Given the description of an element on the screen output the (x, y) to click on. 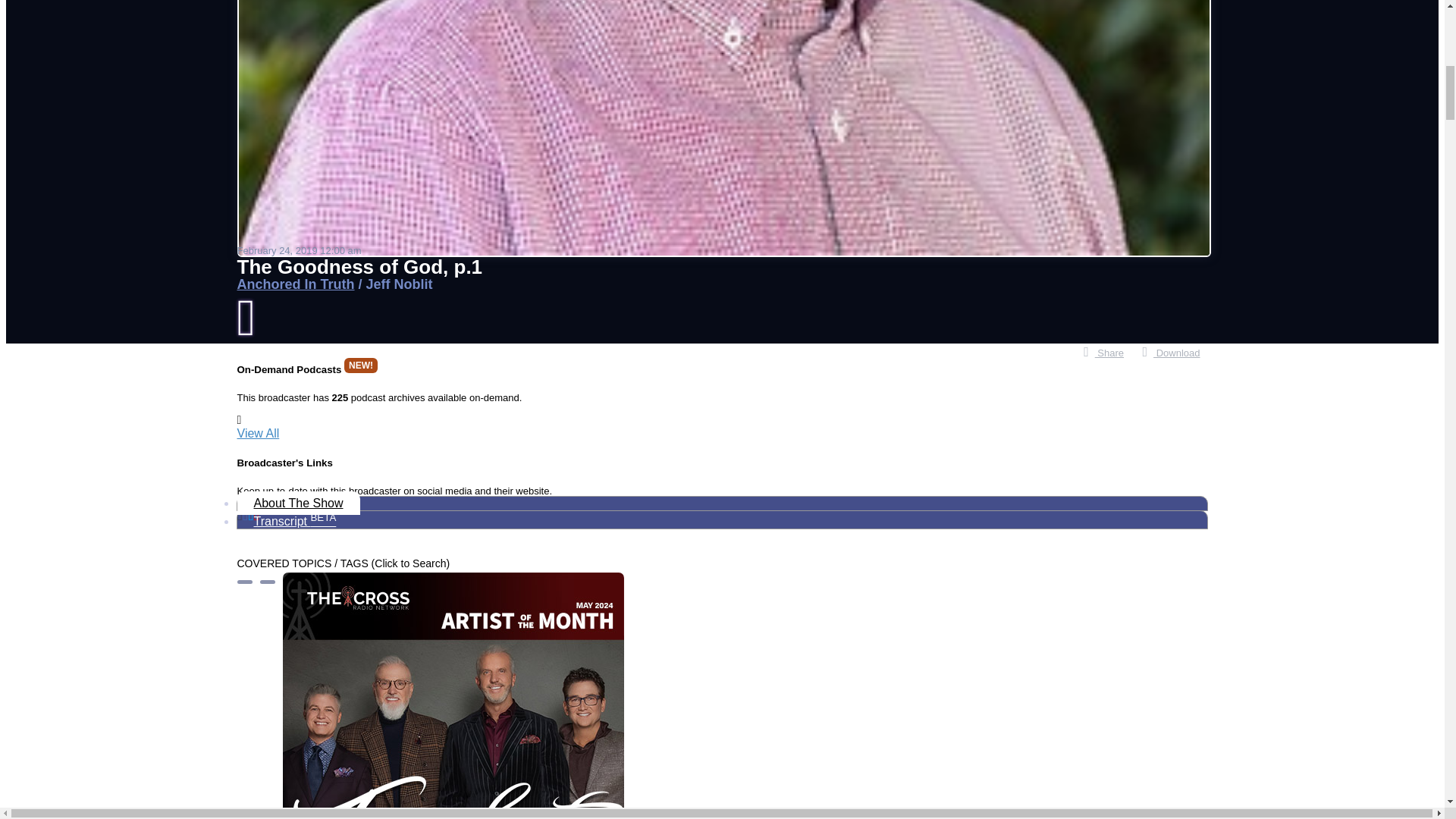
Anchored In Truth (294, 283)
Download (1170, 352)
Go to Show Details (294, 283)
View All (257, 432)
Share (1103, 352)
